Given the description of an element on the screen output the (x, y) to click on. 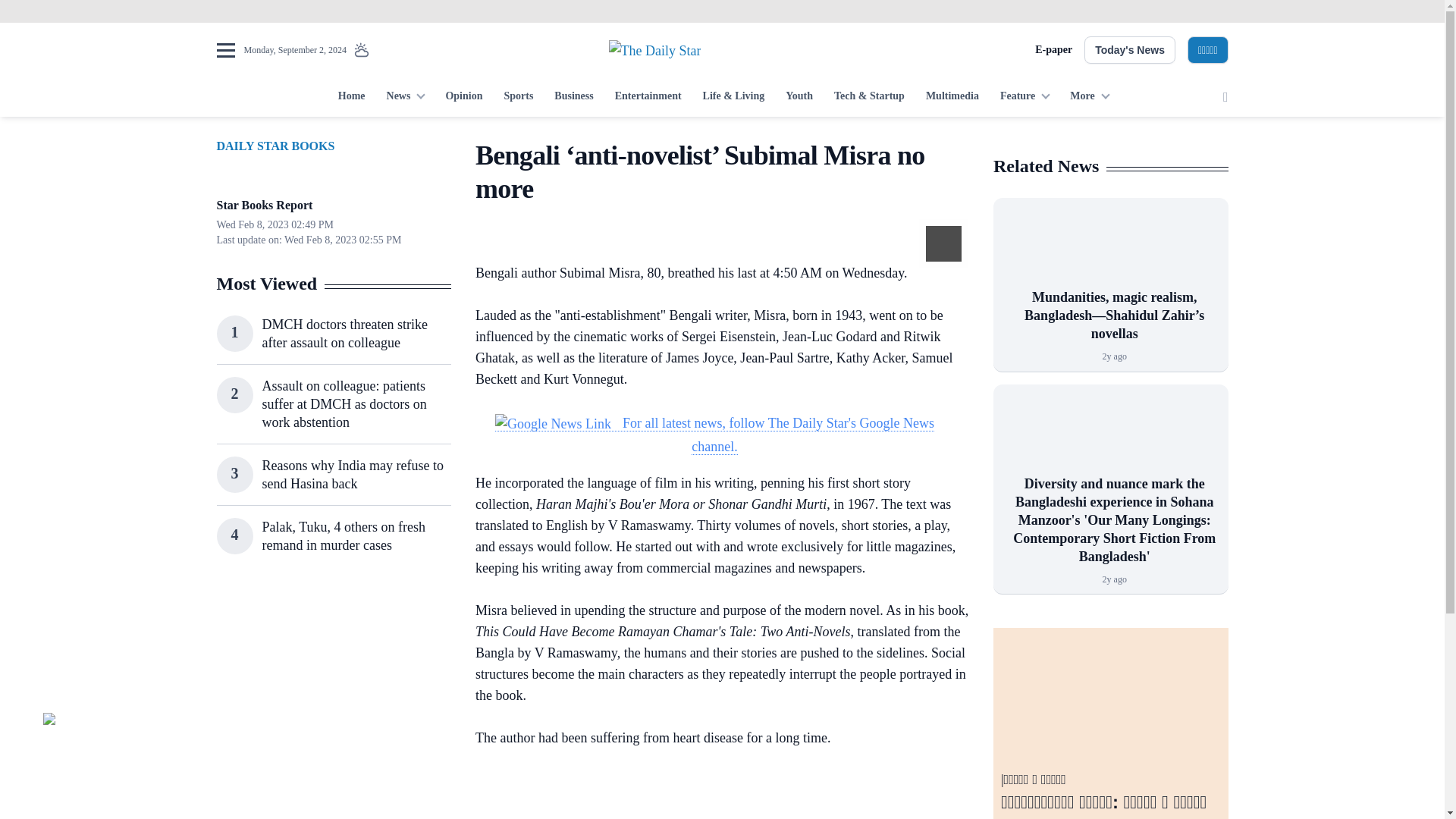
E-paper (1053, 49)
Today's News (1129, 49)
Feature (1024, 96)
News (405, 96)
Youth (799, 96)
Business (573, 96)
Opinion (463, 96)
Multimedia (952, 96)
Home (351, 96)
